Given the description of an element on the screen output the (x, y) to click on. 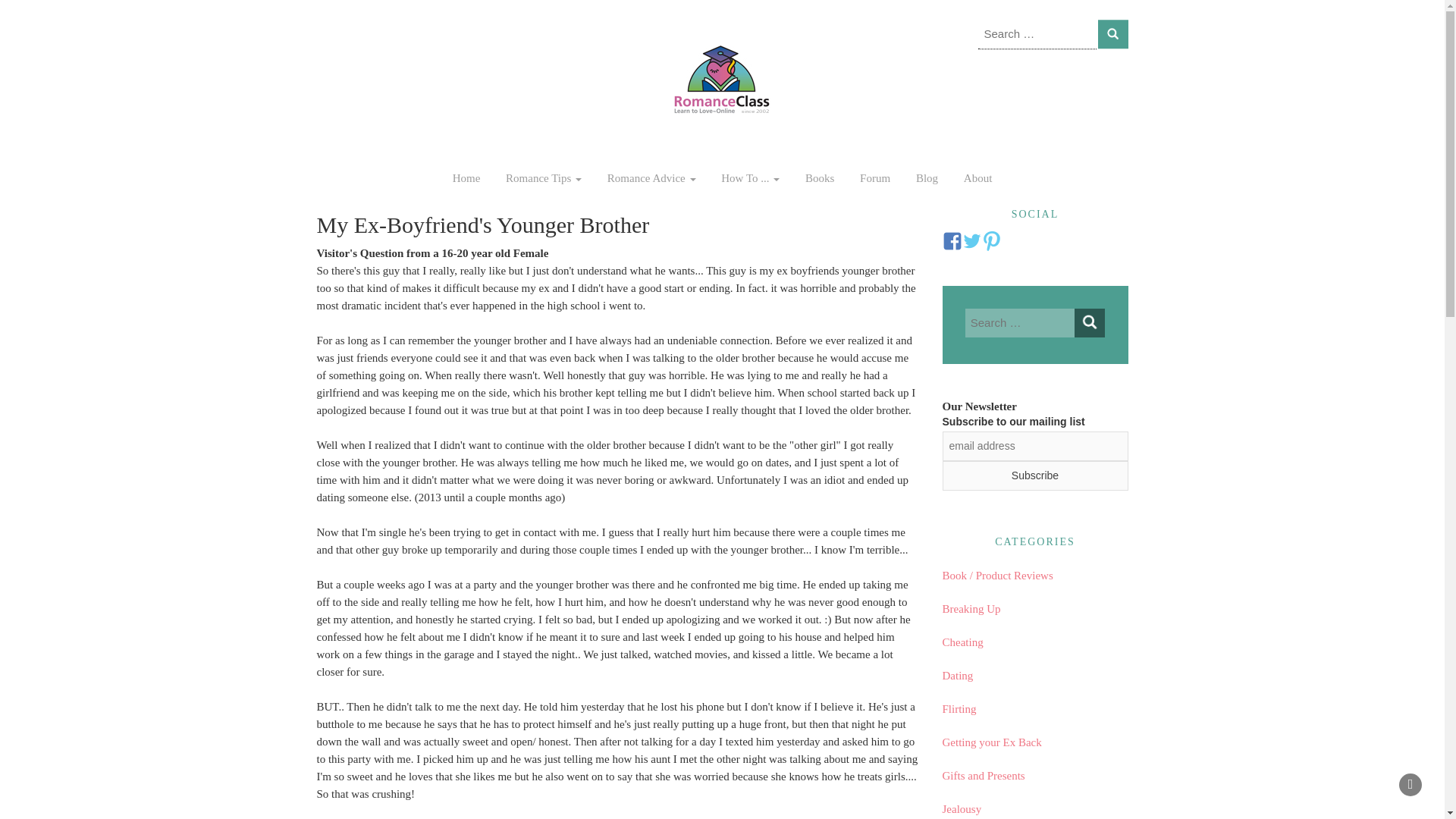
Search (1089, 323)
Blog (926, 177)
About (978, 177)
How To ... (750, 177)
Home (466, 177)
Romance Tips (543, 177)
Romance Tips (543, 177)
Search (1112, 34)
Search (1112, 34)
Subscribe (1034, 475)
Books (819, 177)
Forum (874, 177)
Romance Advice (651, 177)
Search (1112, 34)
Home (466, 177)
